Given the description of an element on the screen output the (x, y) to click on. 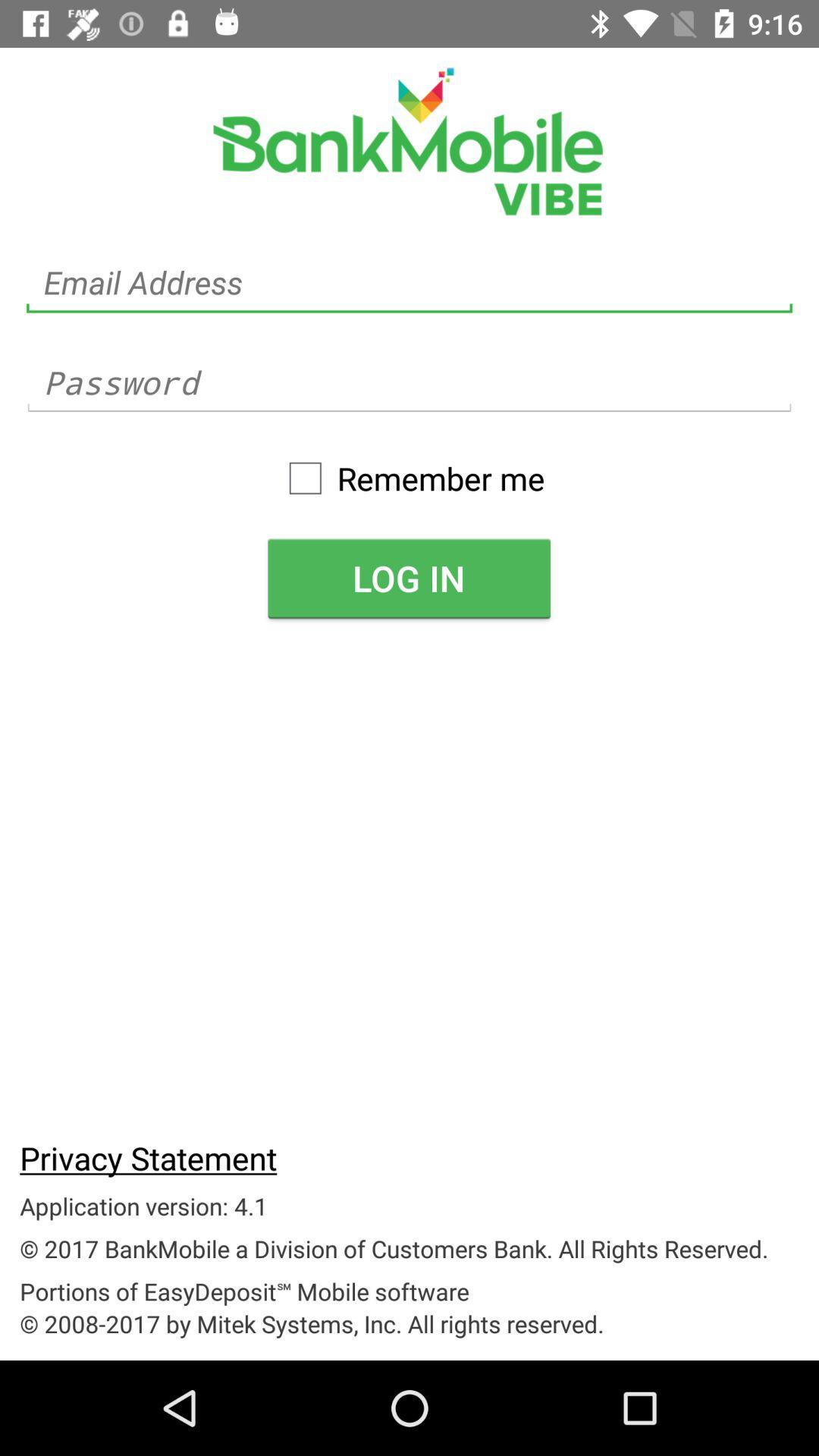
select the icon above the remember me (409, 382)
